Given the description of an element on the screen output the (x, y) to click on. 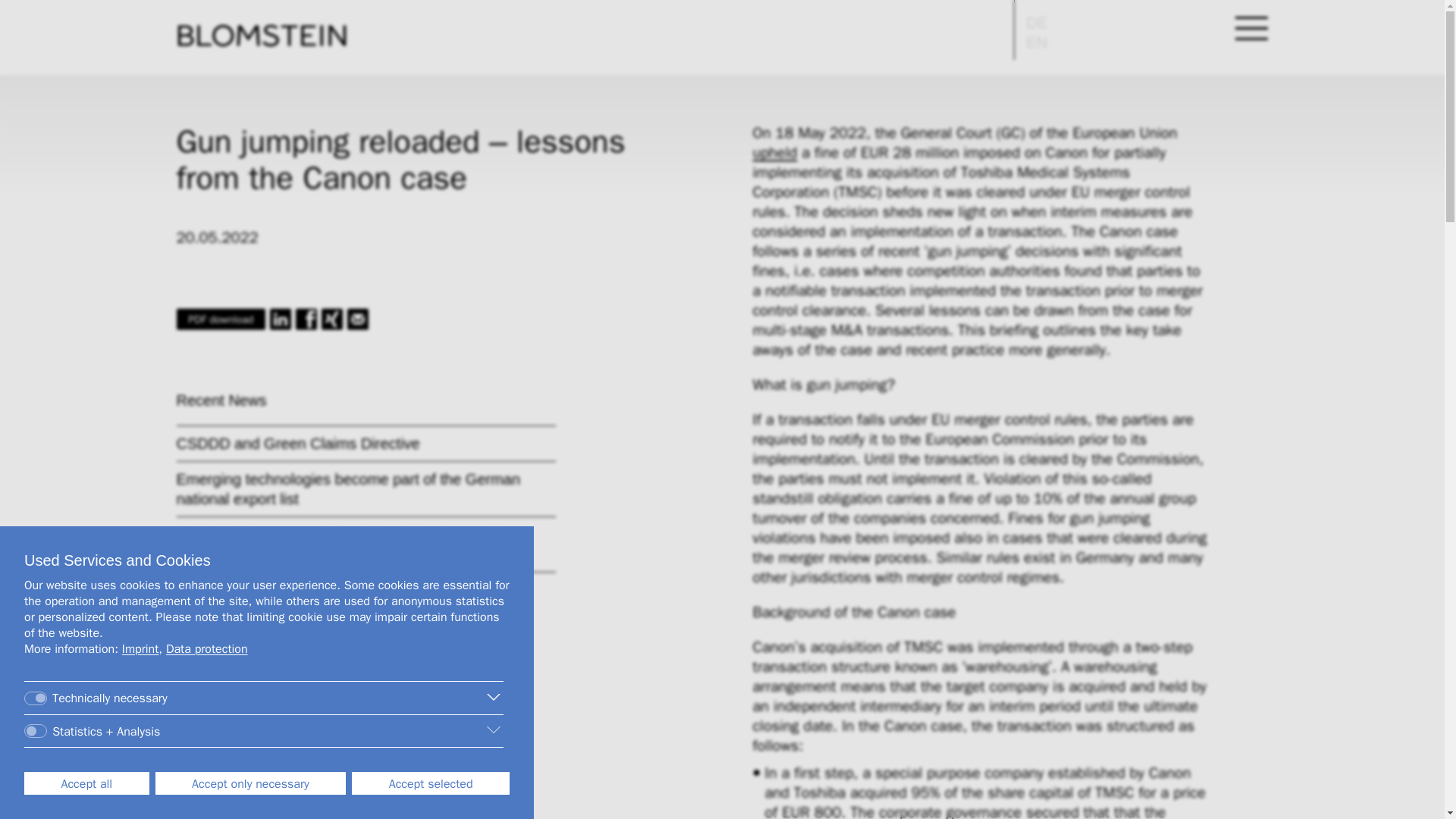
Share on Xing (331, 319)
Data protection (206, 648)
Accept only necessary (250, 783)
Share on LinkedIn (280, 319)
Accept all (86, 783)
upheld (774, 152)
PDF download (220, 319)
Data protection (206, 648)
Share on Facebook (306, 319)
Imprint (140, 648)
Share via mail (357, 319)
Accept selected (430, 783)
Imprint (140, 648)
